Given the description of an element on the screen output the (x, y) to click on. 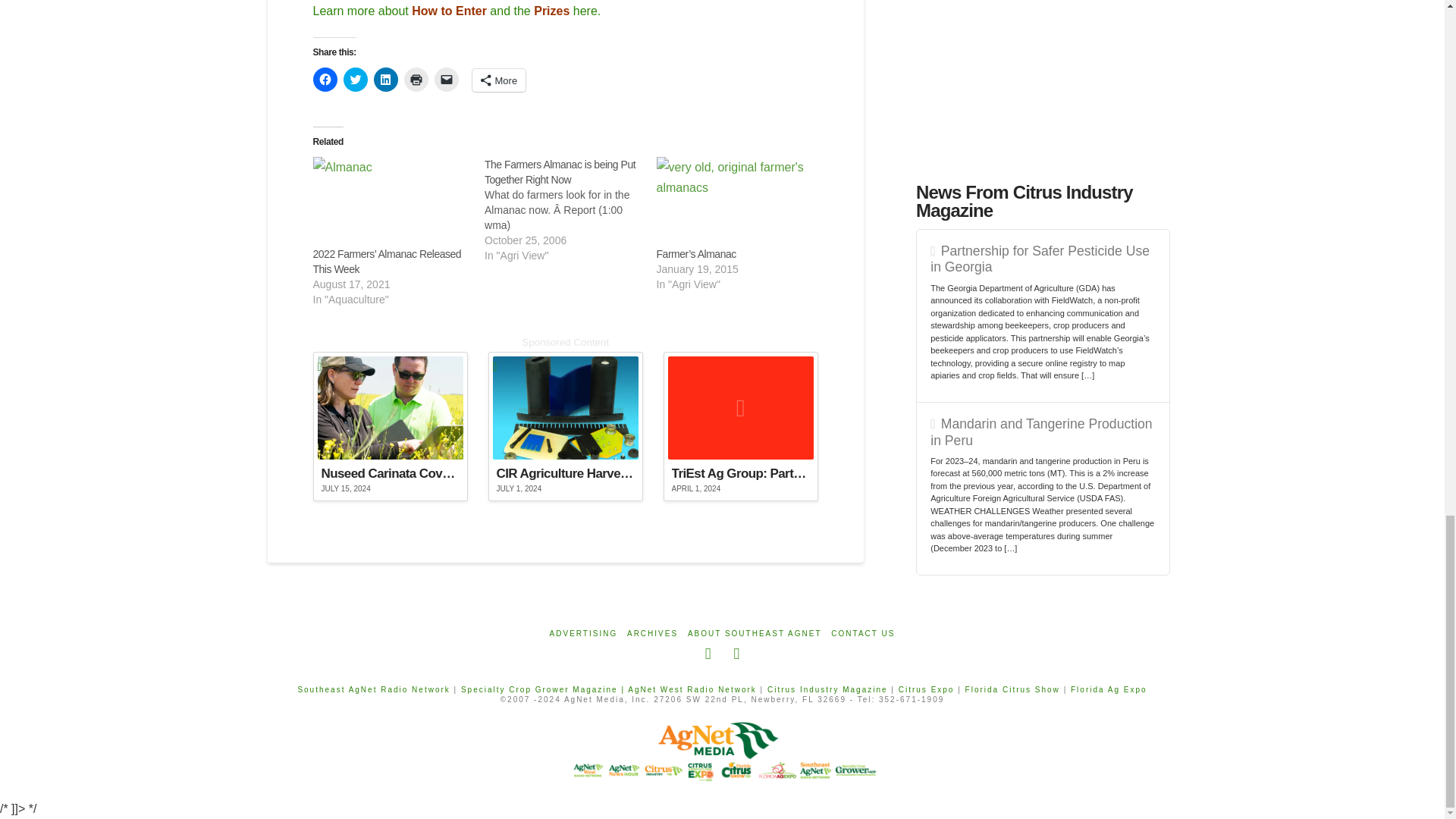
The Farmers Almanac is being Put Together Right Now (570, 209)
Click to share on Facebook (324, 79)
The Farmers Almanac is being Put Together Right Now (559, 171)
Click to print (415, 79)
Click to share on LinkedIn (384, 79)
Click to share on Twitter (354, 79)
Click to email a link to a friend (445, 79)
